Given the description of an element on the screen output the (x, y) to click on. 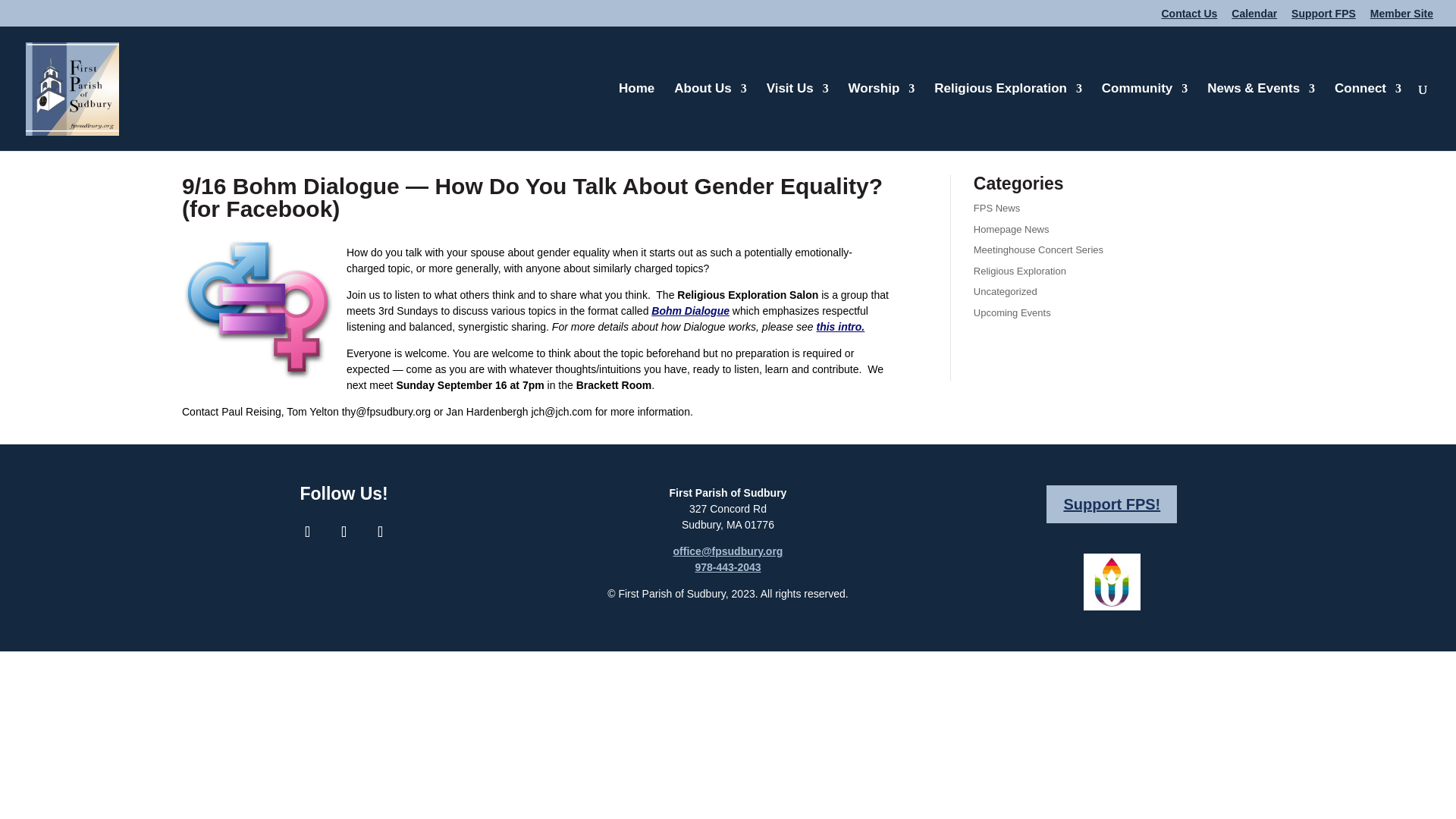
Calendar (1253, 16)
Follow on Instagram (344, 531)
Support FPS (1323, 16)
Visit Us (797, 116)
Religious Exploration (1007, 116)
Follow on Youtube (380, 531)
Contact Us (1188, 16)
Home (635, 116)
Community (1145, 116)
About Us (710, 116)
Follow on Facebook (307, 531)
Worship (881, 116)
Member Site (1401, 16)
